Given the description of an element on the screen output the (x, y) to click on. 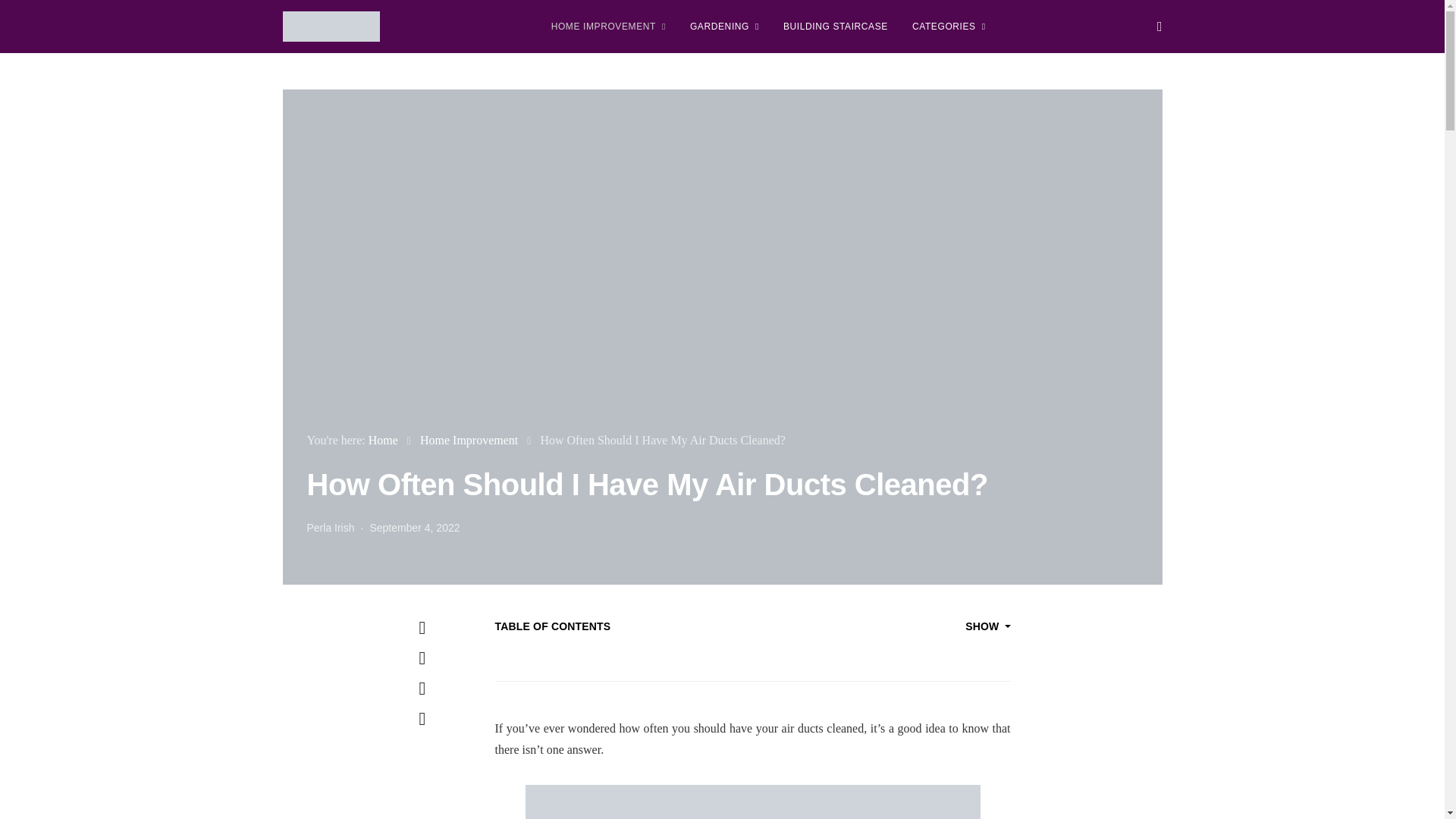
View all posts by Perla Irish (329, 527)
How Often Should I Have My Air Ducts Cleaned? (751, 801)
HOME IMPROVEMENT (608, 26)
